Given the description of an element on the screen output the (x, y) to click on. 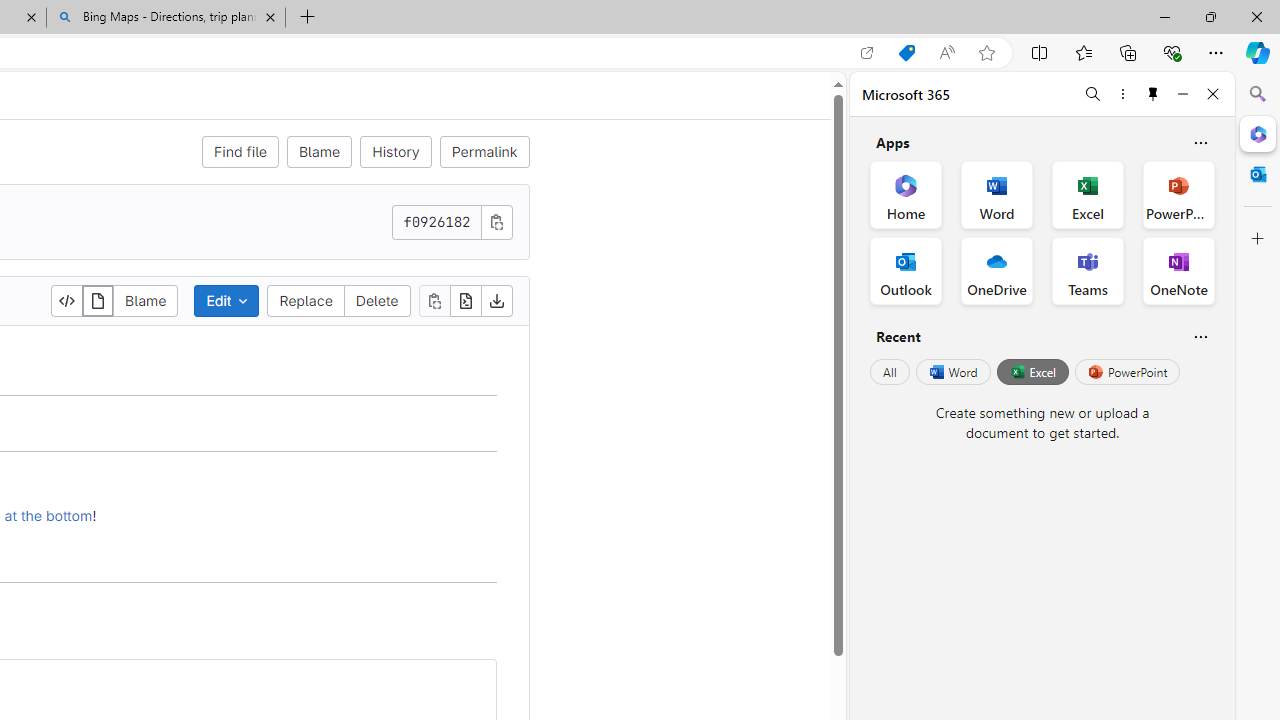
Find file (240, 151)
Class: s16 gl-icon gl-button-icon  (496, 221)
All (890, 372)
Replace (306, 300)
Open in app (867, 53)
Teams Office App (1087, 270)
Outlook Office App (906, 270)
